Given the description of an element on the screen output the (x, y) to click on. 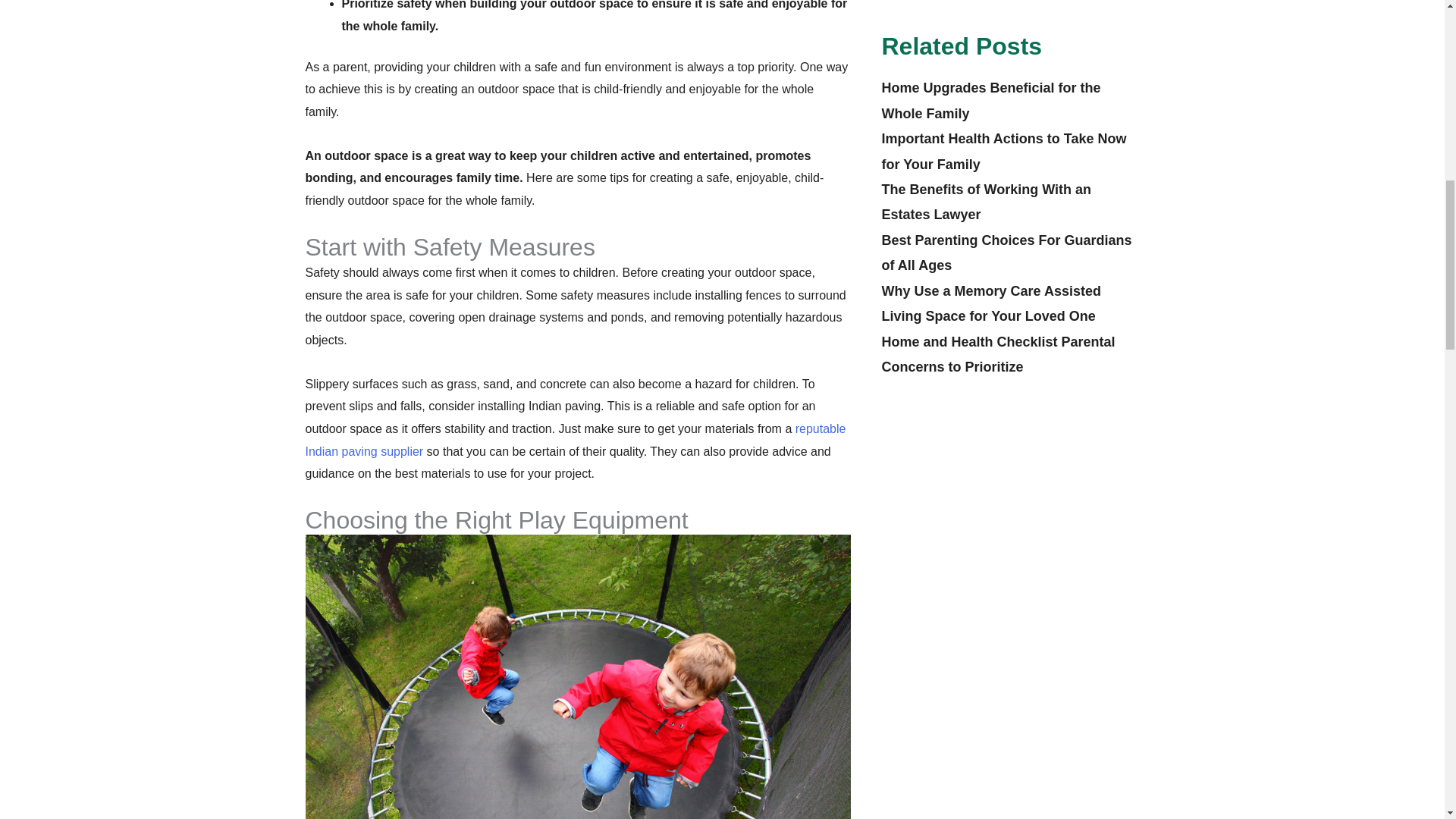
reputable Indian paving supplier (574, 439)
